Given the description of an element on the screen output the (x, y) to click on. 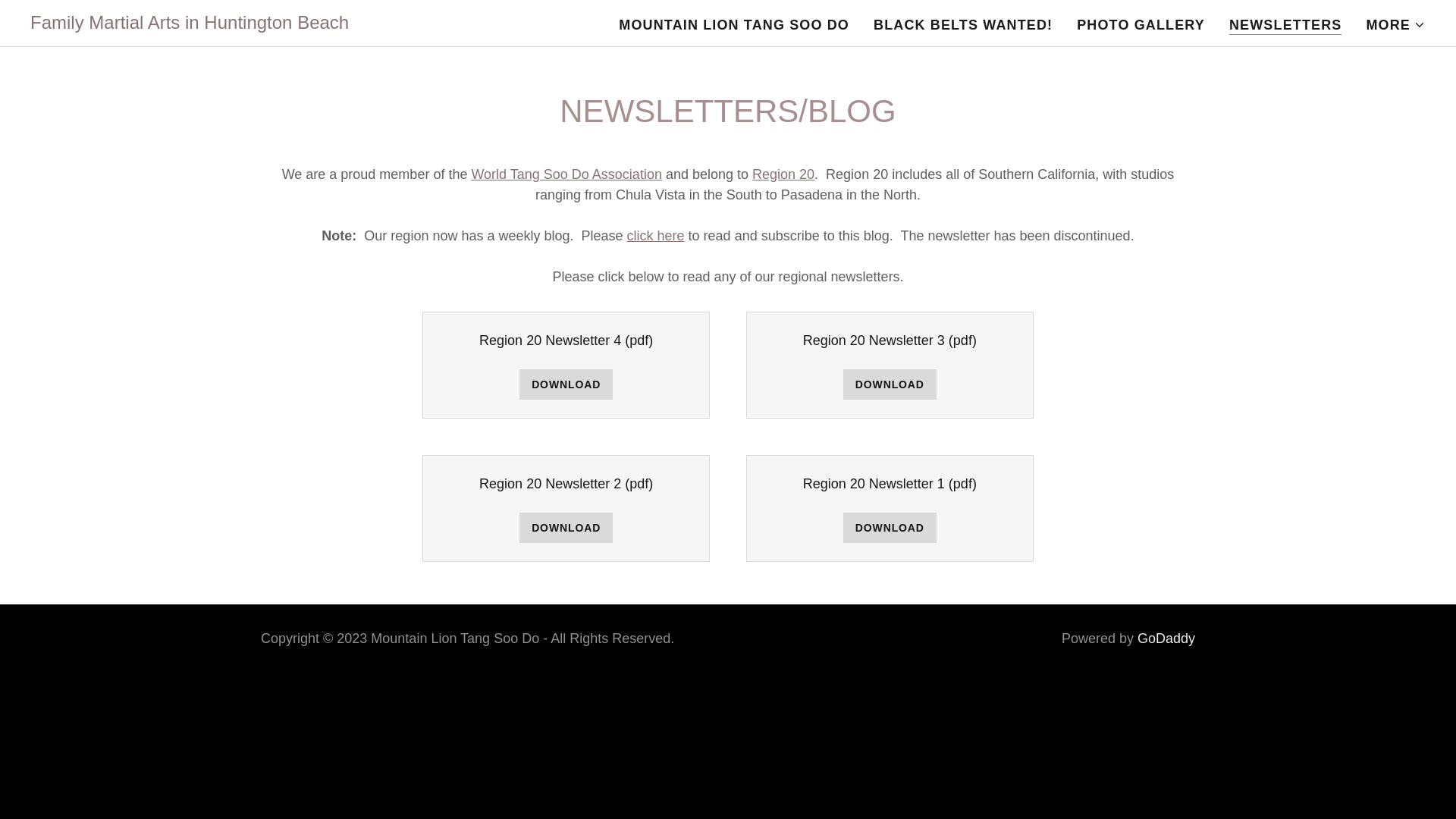
DOWNLOAD (889, 384)
MORE (1395, 24)
GoDaddy (1166, 638)
DOWNLOAD (565, 527)
DOWNLOAD (565, 384)
Family Martial Arts in Huntington Beach (189, 23)
click here (655, 235)
BLACK BELTS WANTED! (963, 24)
Family Martial Arts in Huntington Beach (189, 23)
DOWNLOAD (889, 527)
